Given the description of an element on the screen output the (x, y) to click on. 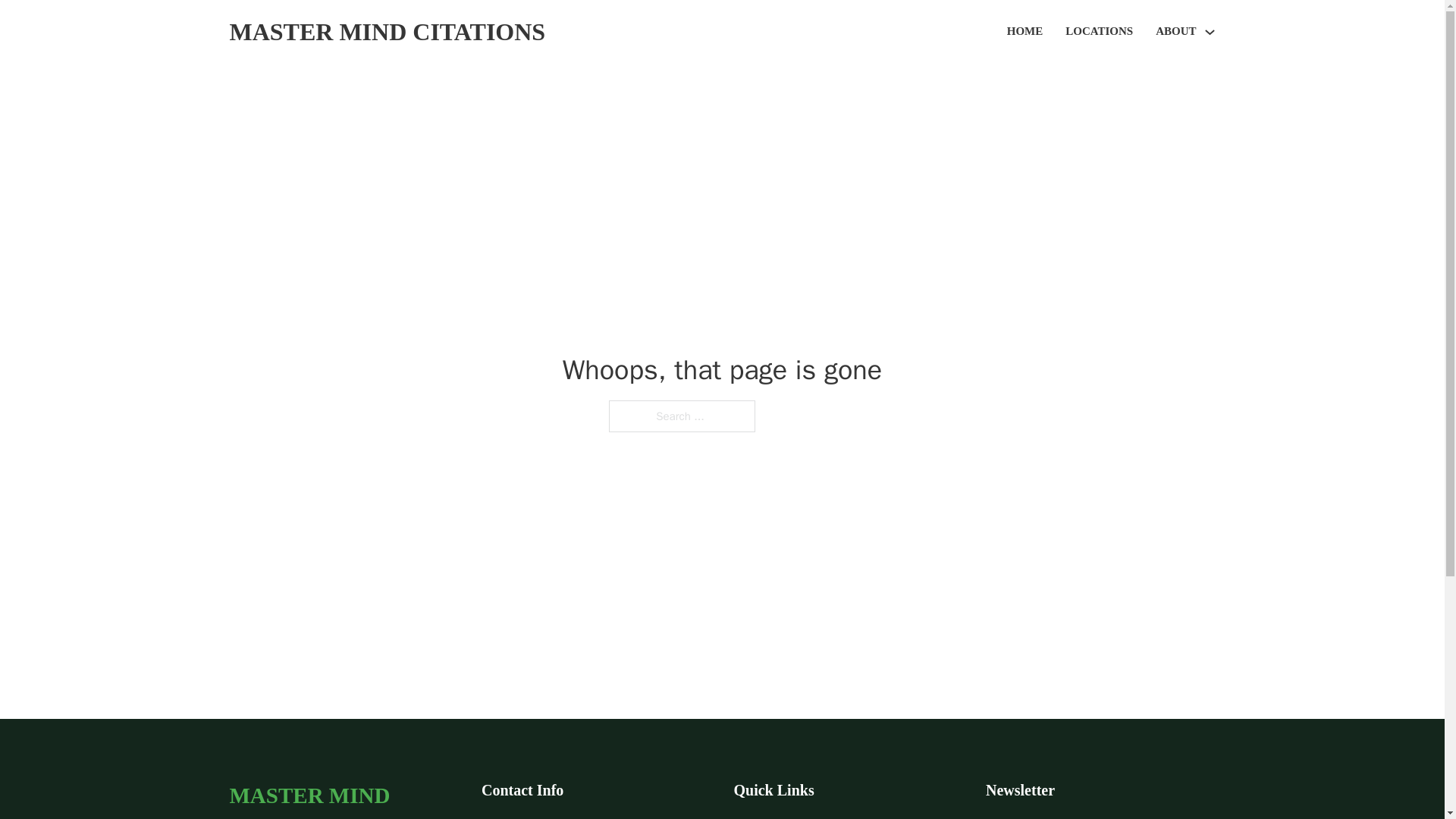
LOCATIONS (1098, 31)
MASTER MIND CITATIONS (386, 31)
HOME (1025, 31)
MASTER MIND CITATIONS (343, 798)
